Given the description of an element on the screen output the (x, y) to click on. 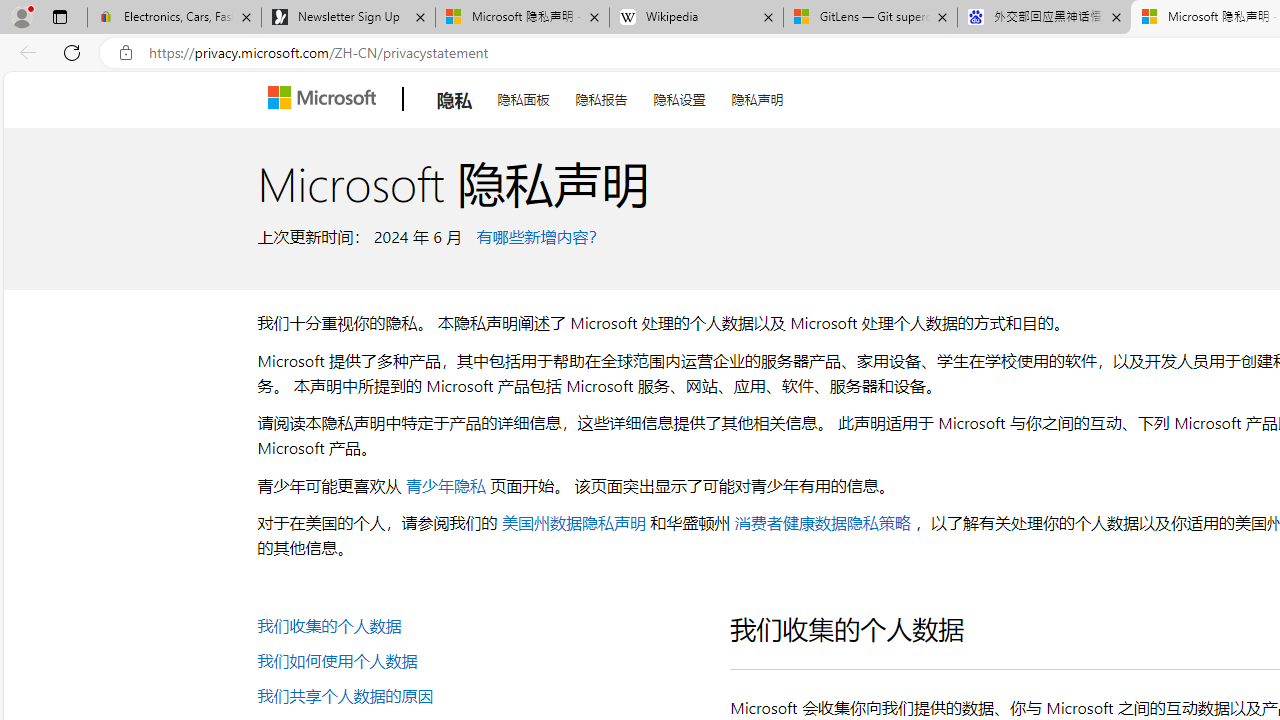
Microsoft (326, 99)
